Given the description of an element on the screen output the (x, y) to click on. 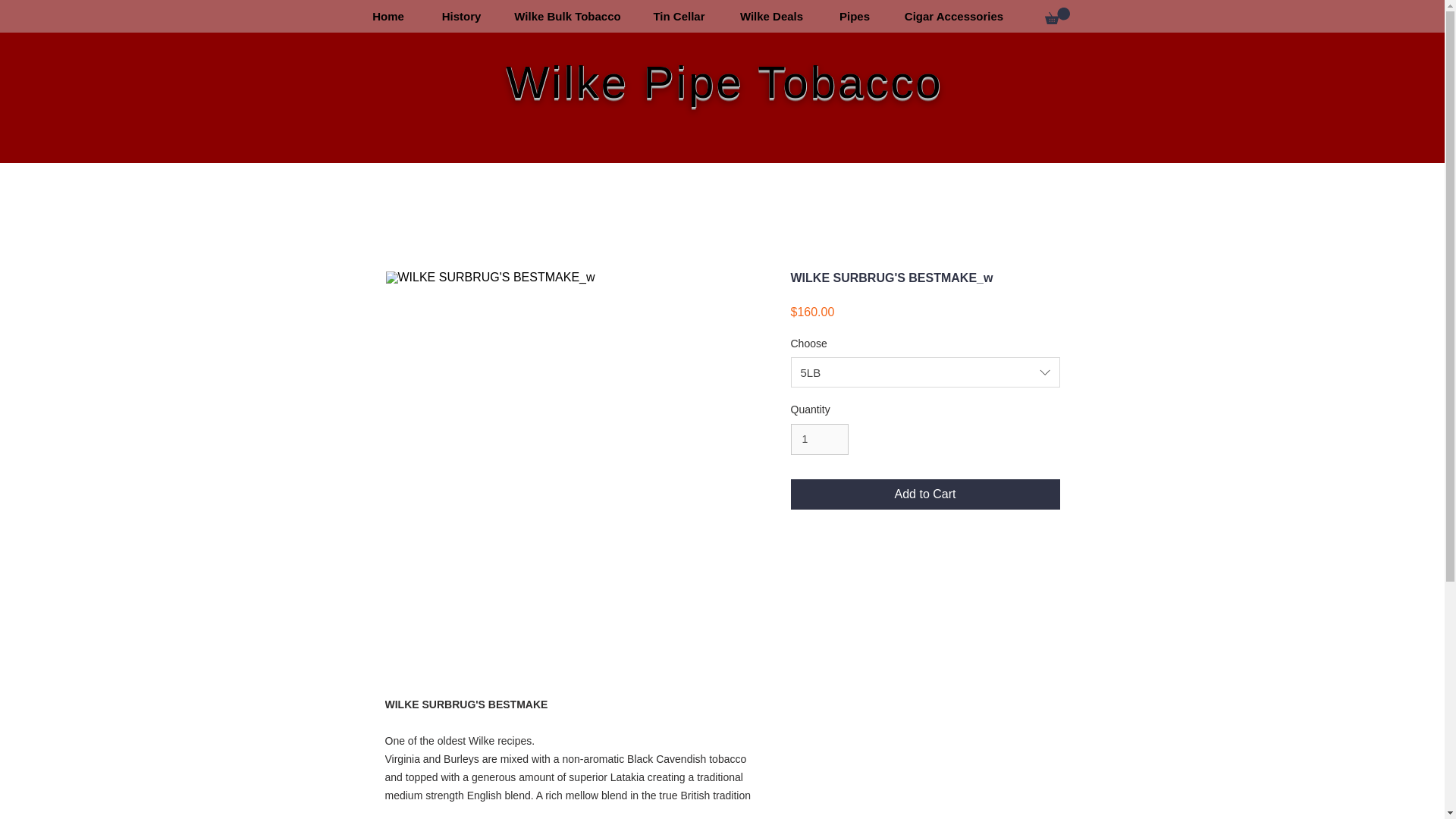
Wilke Deals (771, 16)
Tin Cellar (678, 16)
Home (388, 16)
Wilke Bulk Tobacco (566, 16)
1 (818, 439)
Pipes (854, 16)
History (461, 16)
